Given the description of an element on the screen output the (x, y) to click on. 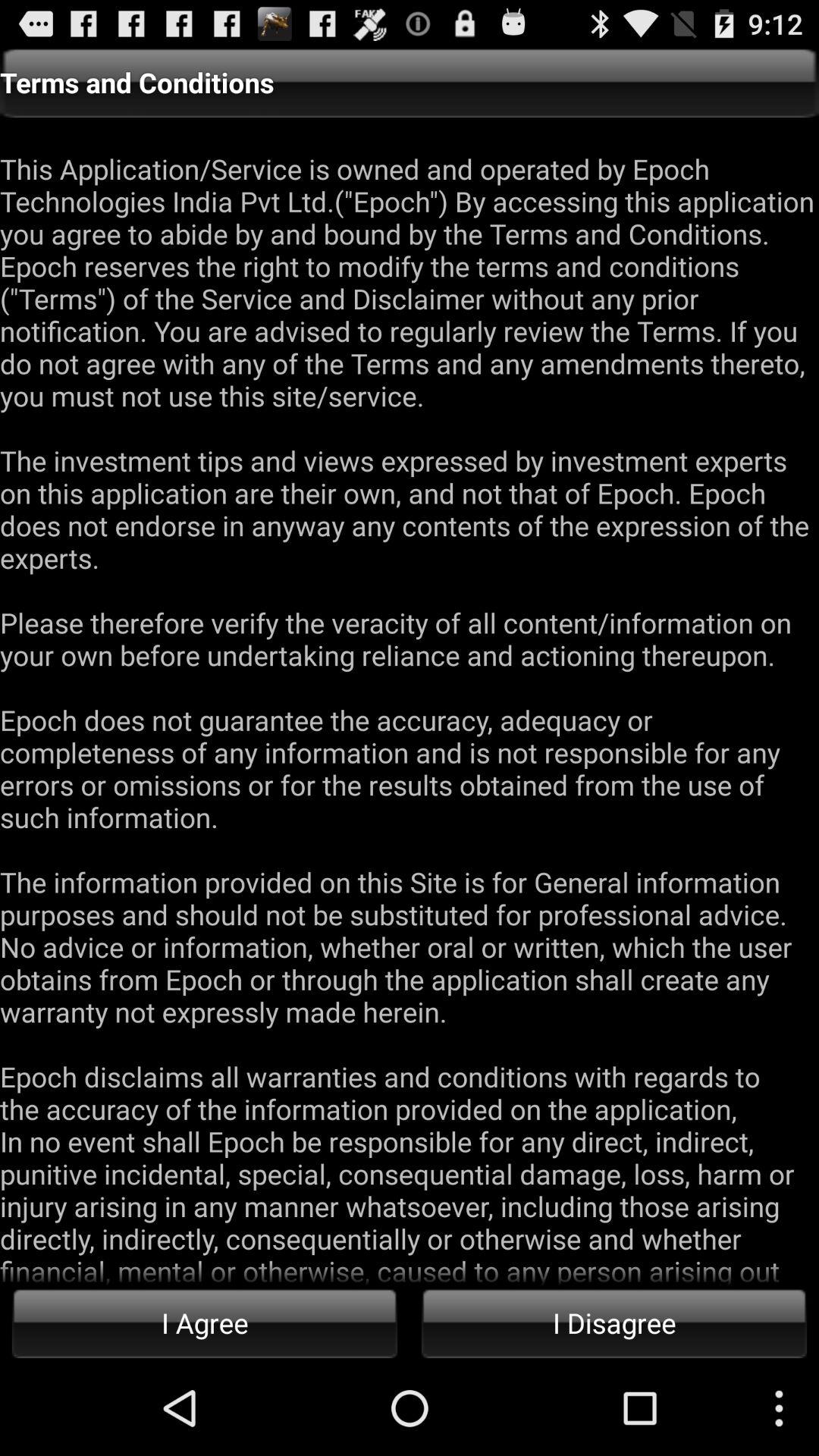
swipe until i agree  button (204, 1323)
